Given the description of an element on the screen output the (x, y) to click on. 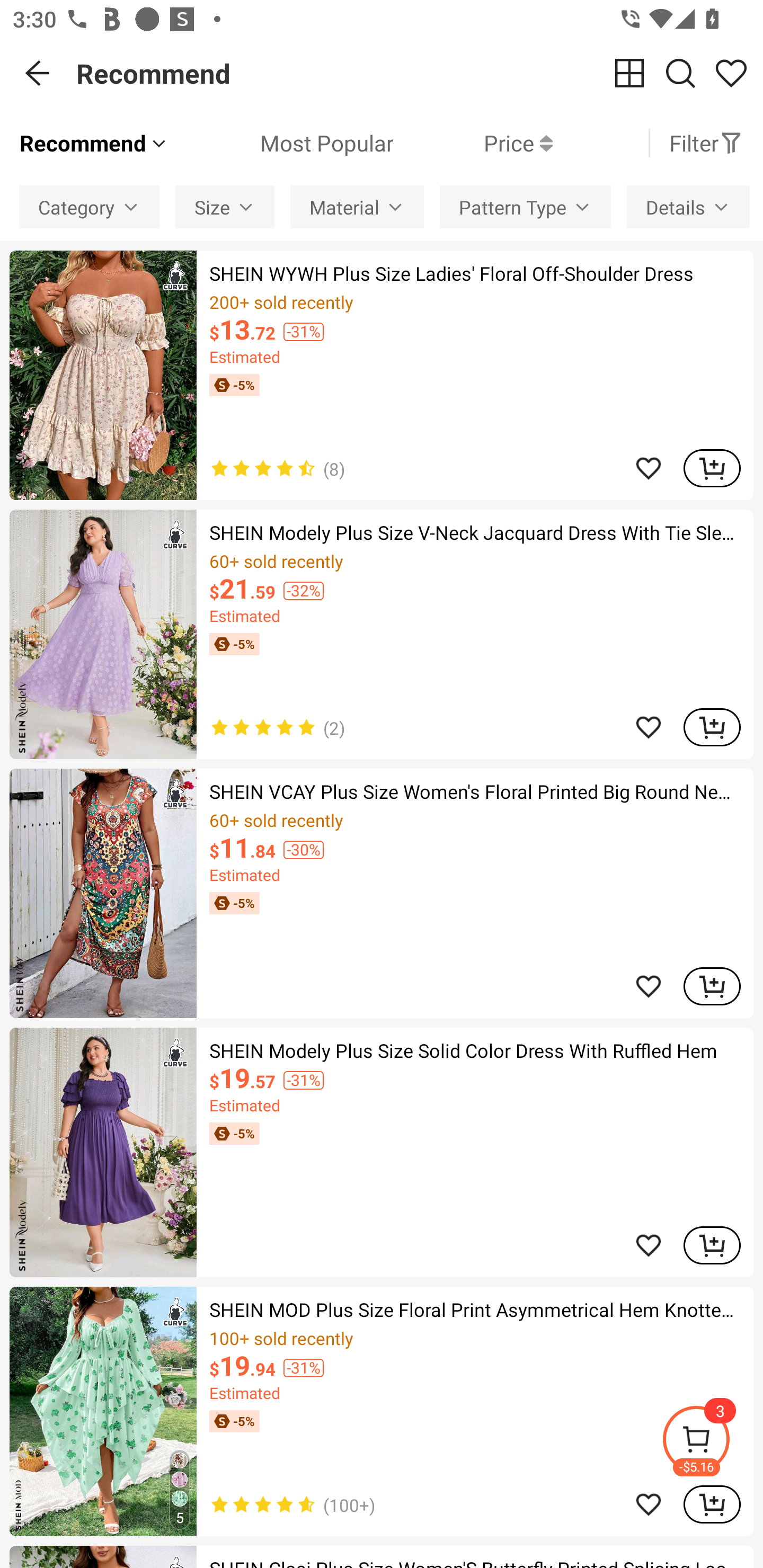
Recommend change view Search Share (419, 72)
change view (629, 72)
Search (679, 72)
Share (730, 72)
Recommend (94, 143)
Most Popular (280, 143)
Price (472, 143)
Filter (705, 143)
Category (89, 206)
Size (224, 206)
Material (357, 206)
Pattern Type (525, 206)
Details (688, 206)
ADD TO CART (711, 467)
Save (648, 468)
ADD TO CART (711, 727)
Save (648, 727)
ADD TO CART (711, 986)
Save (648, 985)
ADD TO CART (711, 1244)
Save (648, 1244)
-$5.16 (712, 1441)
ADD TO CART (711, 1504)
Save (648, 1504)
